Given the description of an element on the screen output the (x, y) to click on. 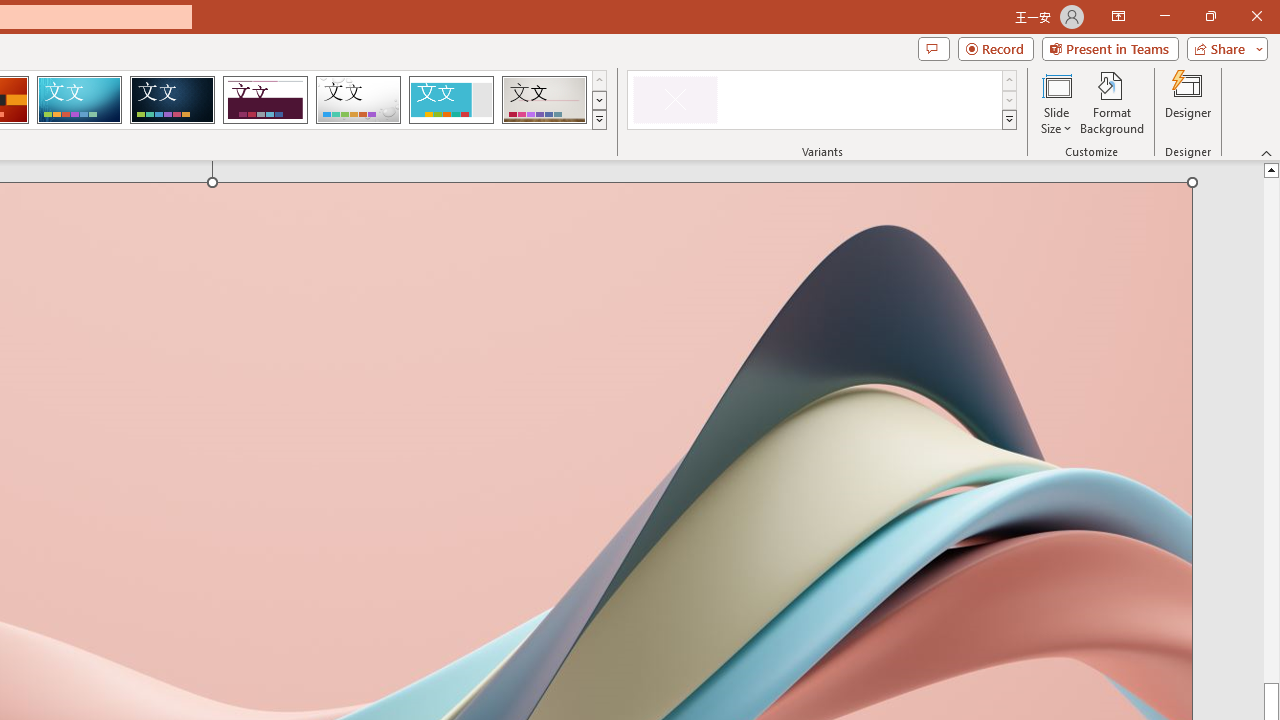
Format Background (1111, 102)
Circuit (79, 100)
Designer (1188, 102)
Line up (1271, 169)
Droplet (358, 100)
Themes (598, 120)
Row Down (1009, 100)
Damask (171, 100)
